Given the description of an element on the screen output the (x, y) to click on. 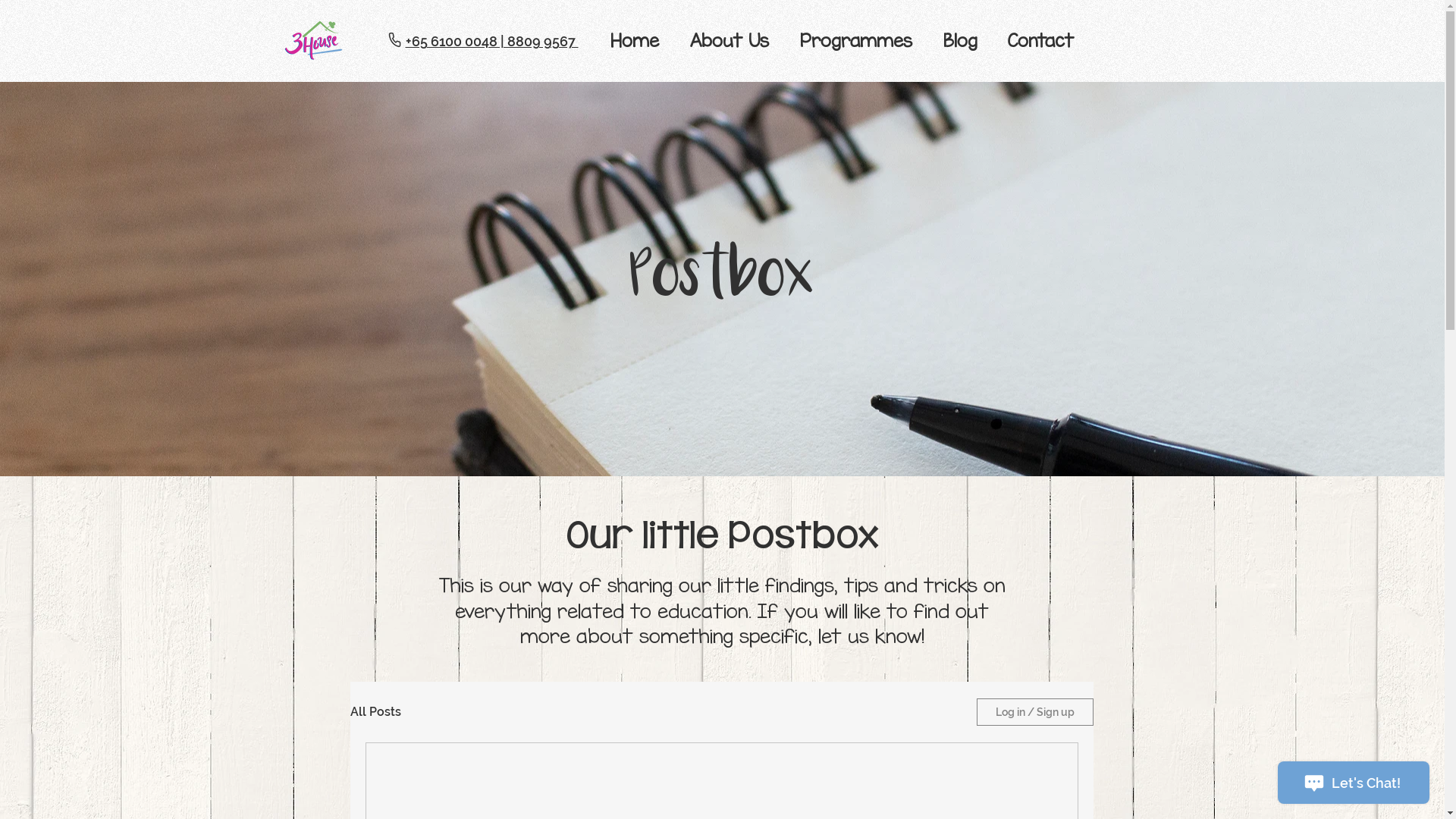
Log in / Sign up Element type: text (1034, 711)
Programmes Element type: text (855, 40)
Home Element type: text (634, 40)
Blog Element type: text (960, 40)
+65 6100 0048 | 8809 9567  Element type: text (490, 40)
All Posts Element type: text (375, 711)
About Us Element type: text (729, 40)
Contact Element type: text (1039, 40)
